Given the description of an element on the screen output the (x, y) to click on. 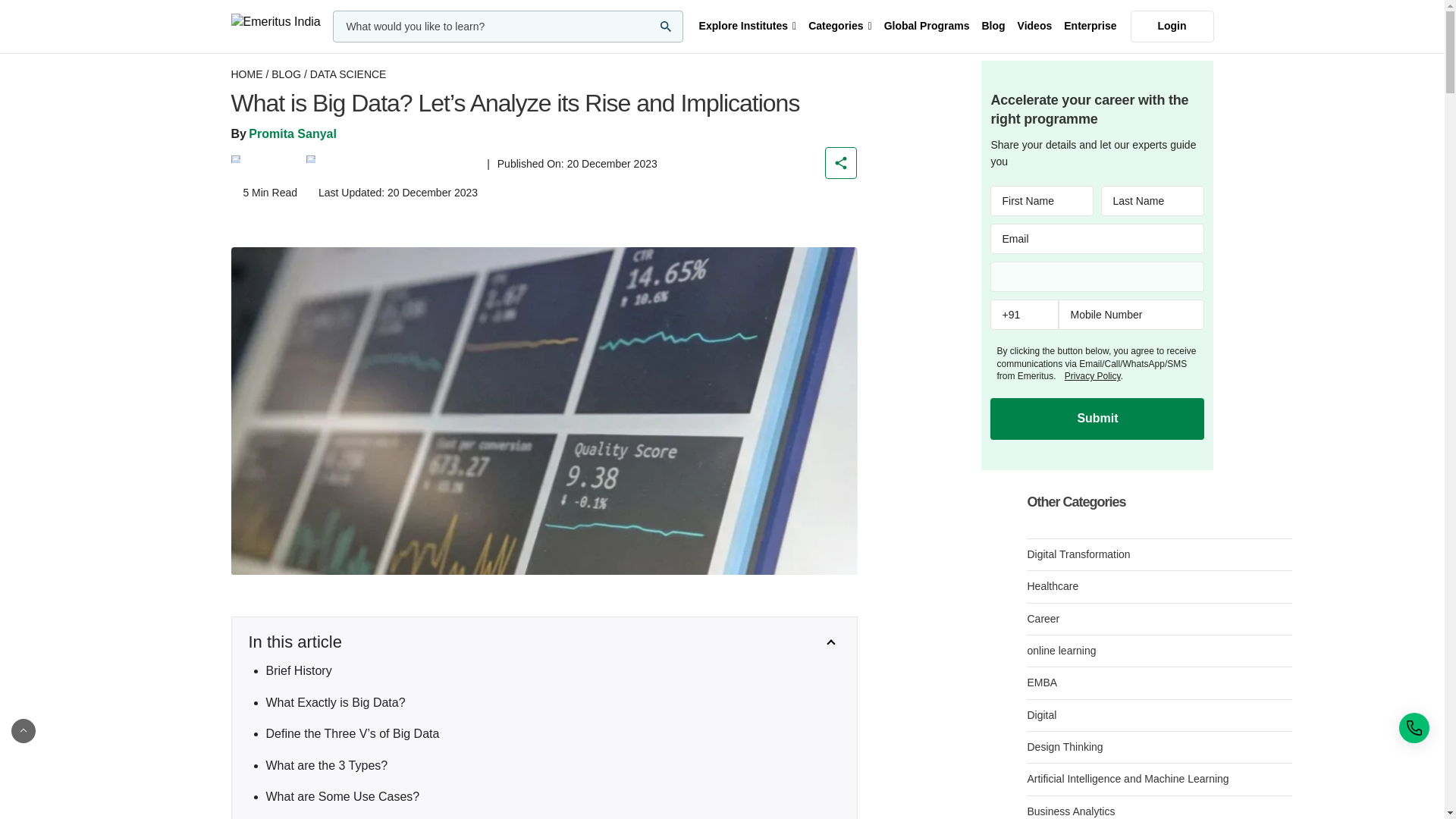
Discover Now!! (971, 14)
Submit (1097, 418)
Country (1097, 276)
Emeritus India (275, 25)
Categories (839, 26)
Explore Institutes (748, 26)
